Given the description of an element on the screen output the (x, y) to click on. 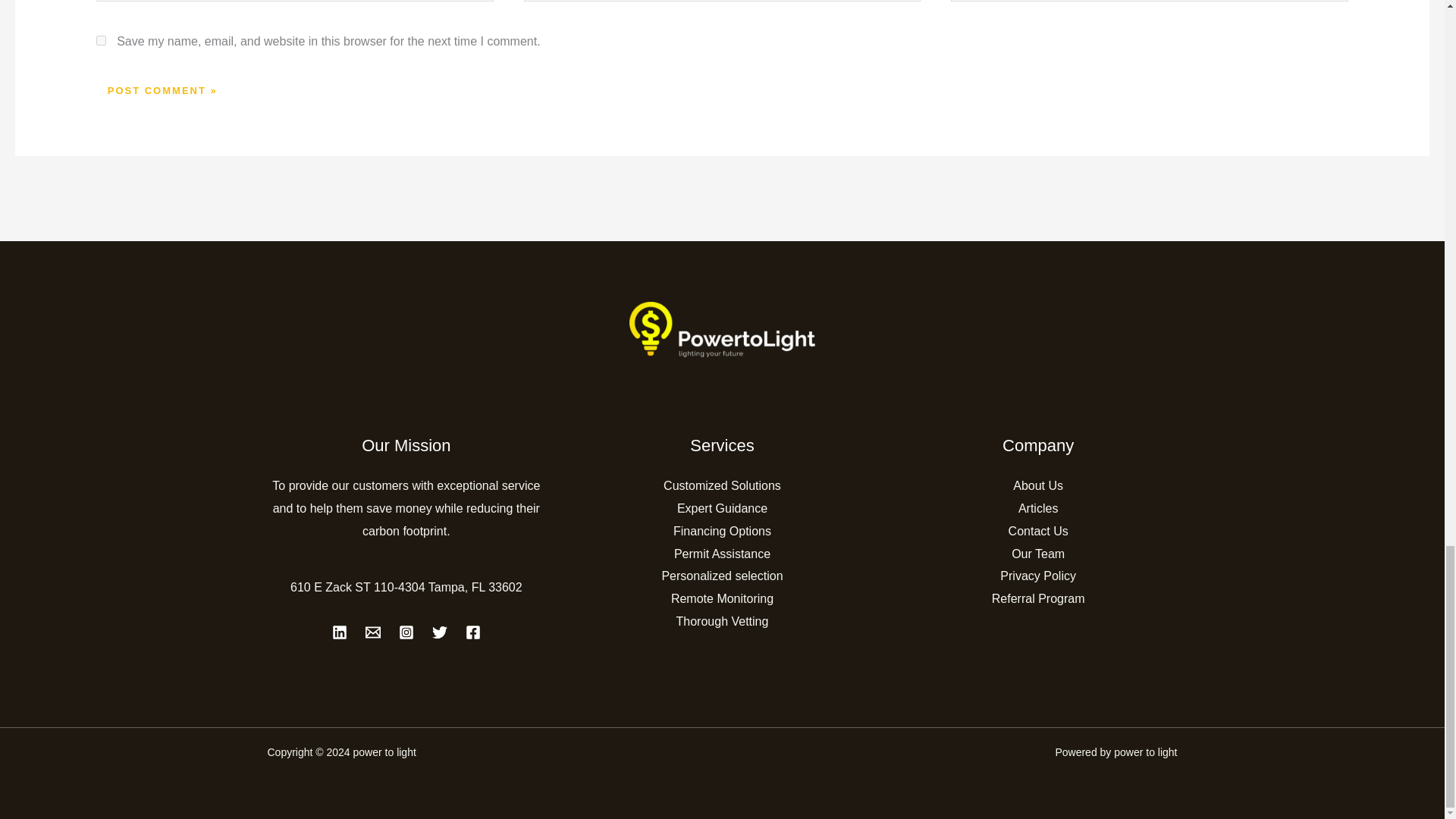
Personalized selection (722, 575)
Articles (1037, 508)
Thorough Vetting (722, 621)
Financing Options (721, 530)
Expert Guidance (722, 508)
About Us (1037, 485)
Customized Solutions (721, 485)
Remote Monitoring (722, 598)
yes (101, 40)
Permit Assistance (722, 553)
